Given the description of an element on the screen output the (x, y) to click on. 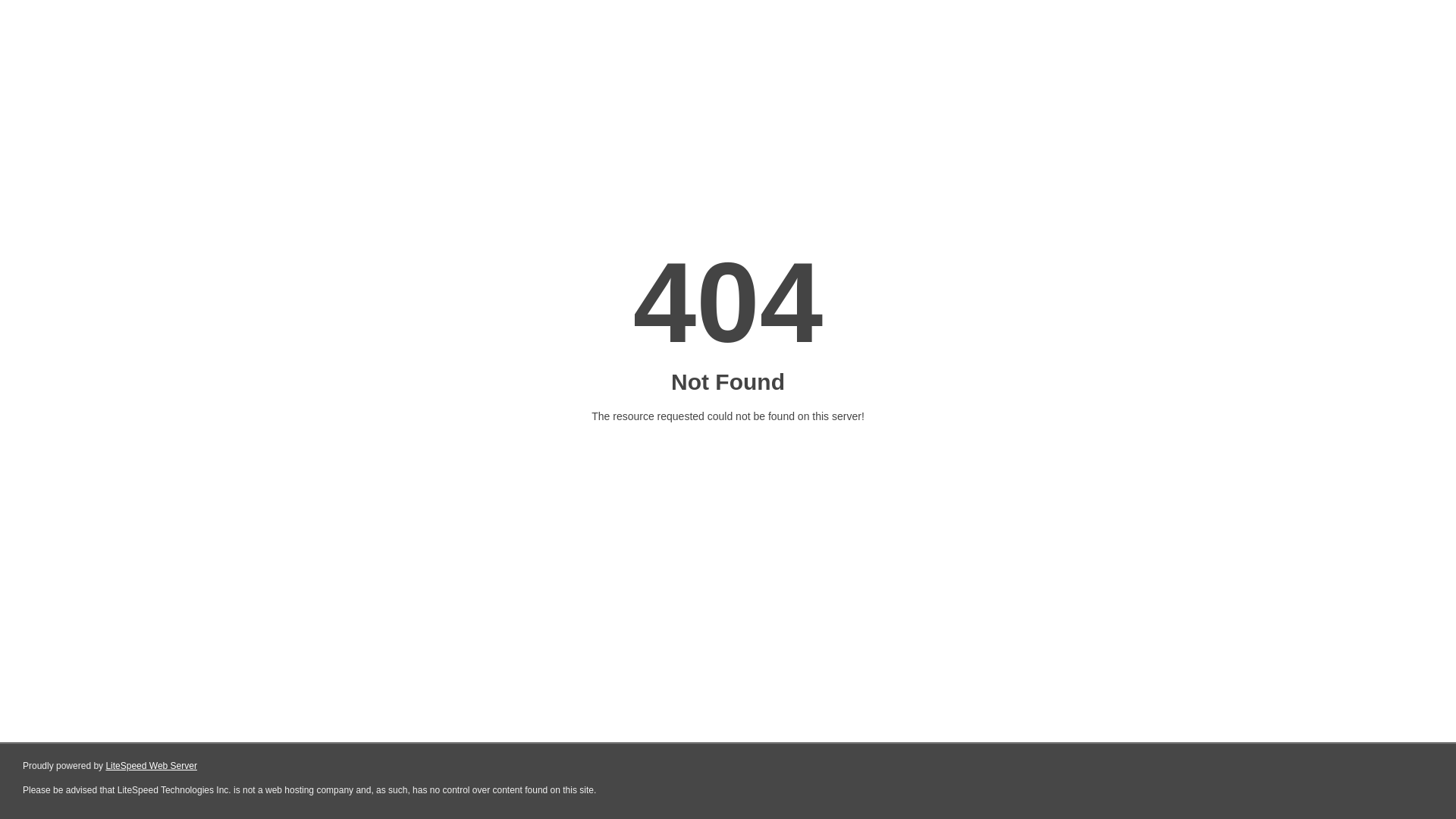
LiteSpeed Web Server Element type: text (151, 765)
